Given the description of an element on the screen output the (x, y) to click on. 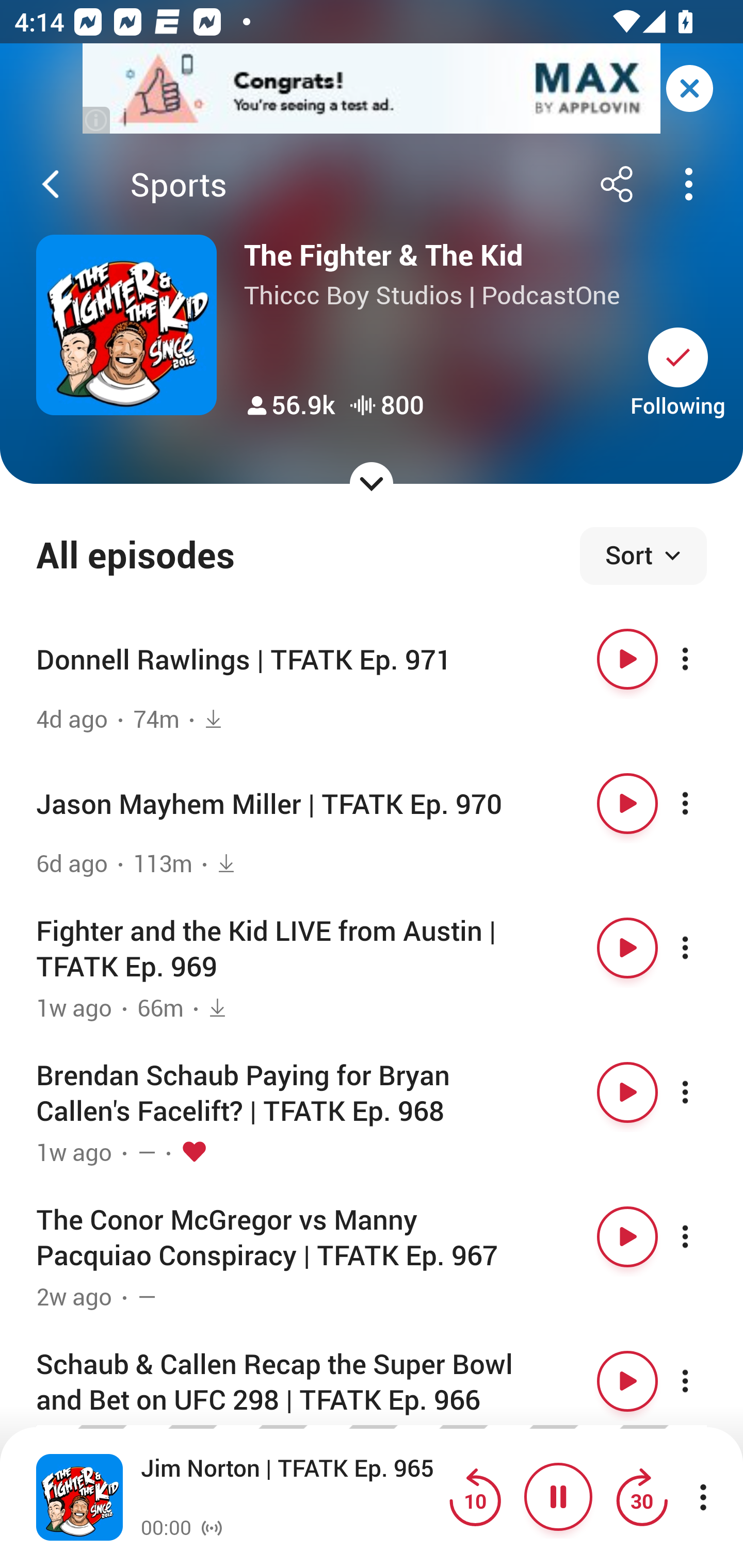
app-monetization (371, 88)
(i) (96, 119)
Back (50, 184)
Unsubscribe button (677, 357)
Sort episodes Sort (643, 555)
Play button (627, 659)
More options (703, 659)
Play button (627, 803)
More options (703, 803)
Play button (627, 947)
More options (703, 947)
Play button (627, 1092)
More options (703, 1092)
Play button (627, 1236)
More options (703, 1236)
Play button (627, 1381)
More options (703, 1381)
Open fullscreen player (79, 1497)
More player controls (703, 1497)
Jim Norton | TFATK Ep. 965 (290, 1484)
Pause button (558, 1496)
Jump back (475, 1497)
Jump forward (641, 1497)
